Given the description of an element on the screen output the (x, y) to click on. 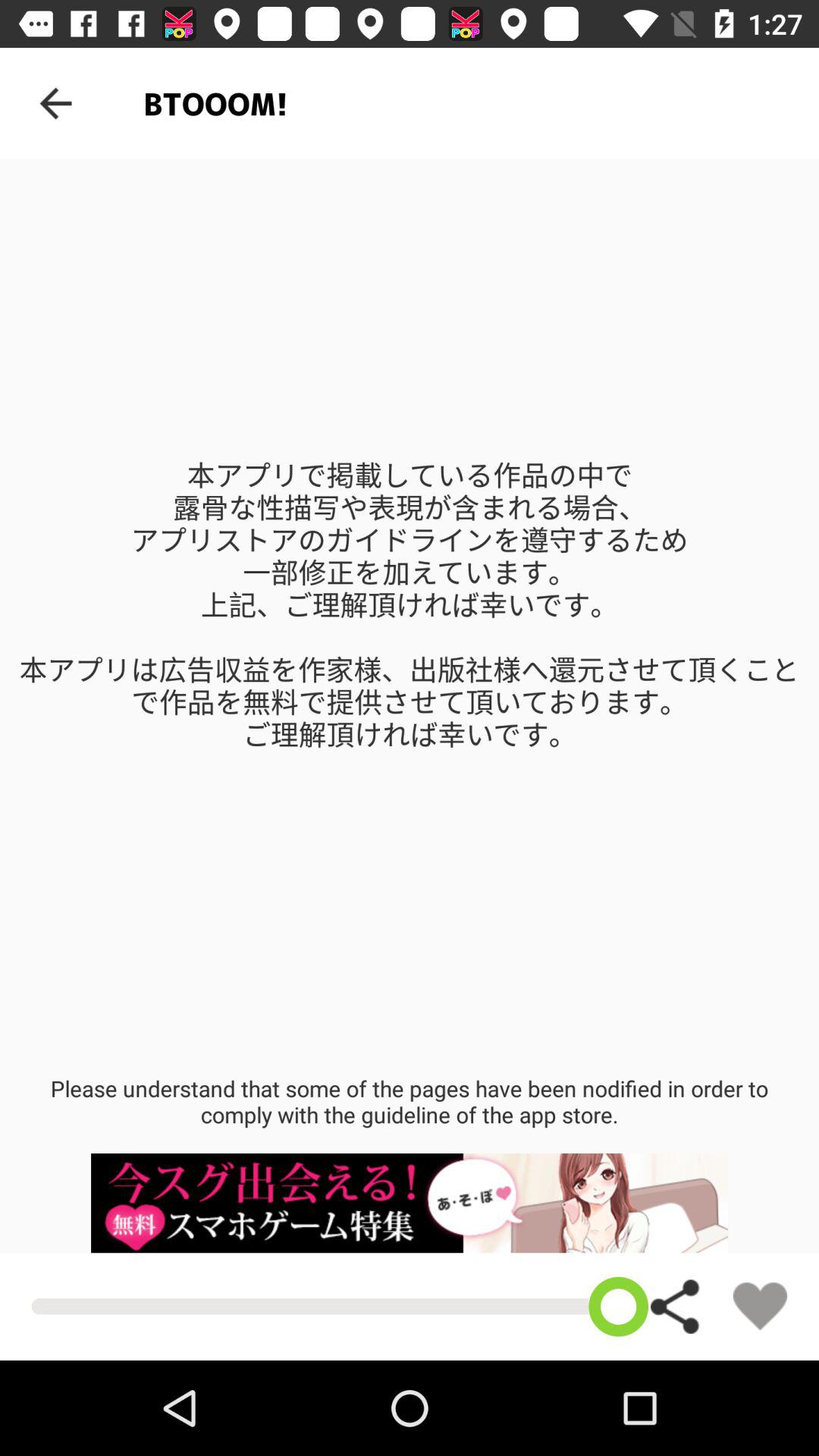
share the article (675, 1306)
